Given the description of an element on the screen output the (x, y) to click on. 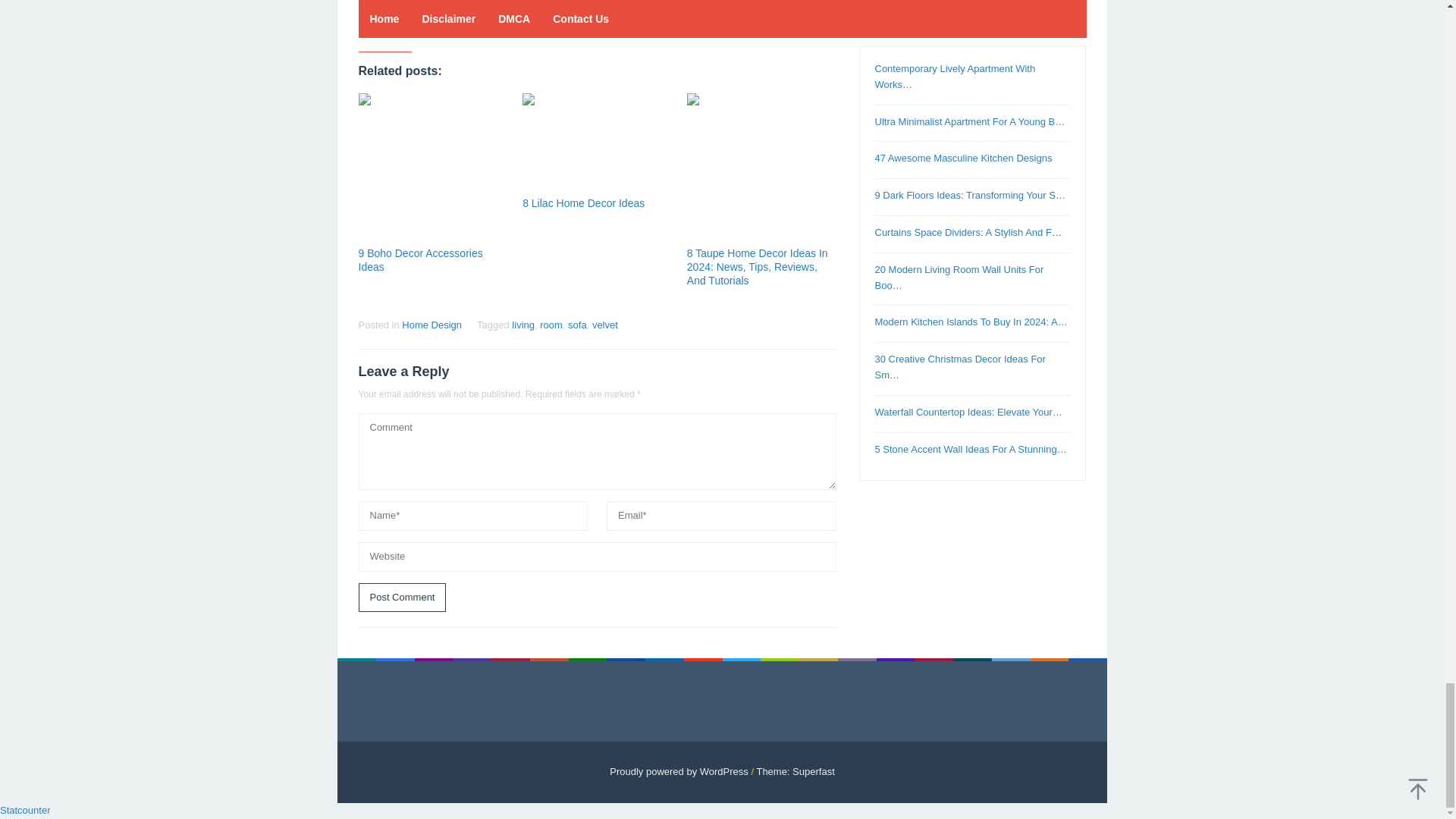
velvet (604, 324)
Permalink to: 9 Boho Decor Accessories Ideas (432, 167)
Permalink to: 8 Lilac Home Decor Ideas (596, 142)
Telegram Share (449, 24)
Permalink to: 8 Lilac Home Decor Ideas (583, 203)
Proudly powered by WordPress (679, 771)
living (523, 324)
Permalink to: 9 Boho Decor Accessories Ideas (419, 259)
Home Design (431, 324)
sofa (576, 324)
room (551, 324)
Pin this (421, 24)
